Given the description of an element on the screen output the (x, y) to click on. 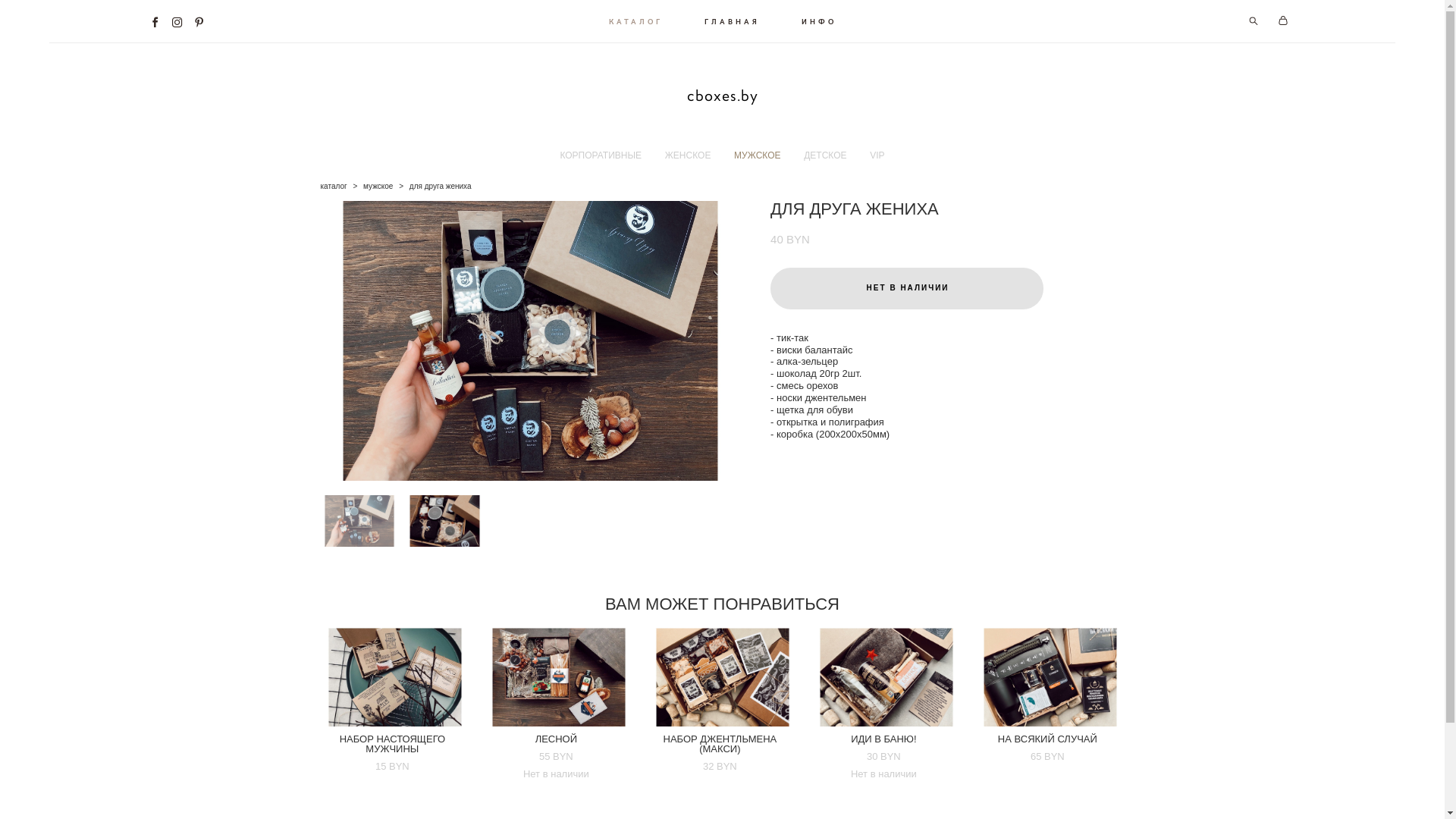
cboxes.by Element type: text (722, 95)
VIP Element type: text (876, 155)
